Given the description of an element on the screen output the (x, y) to click on. 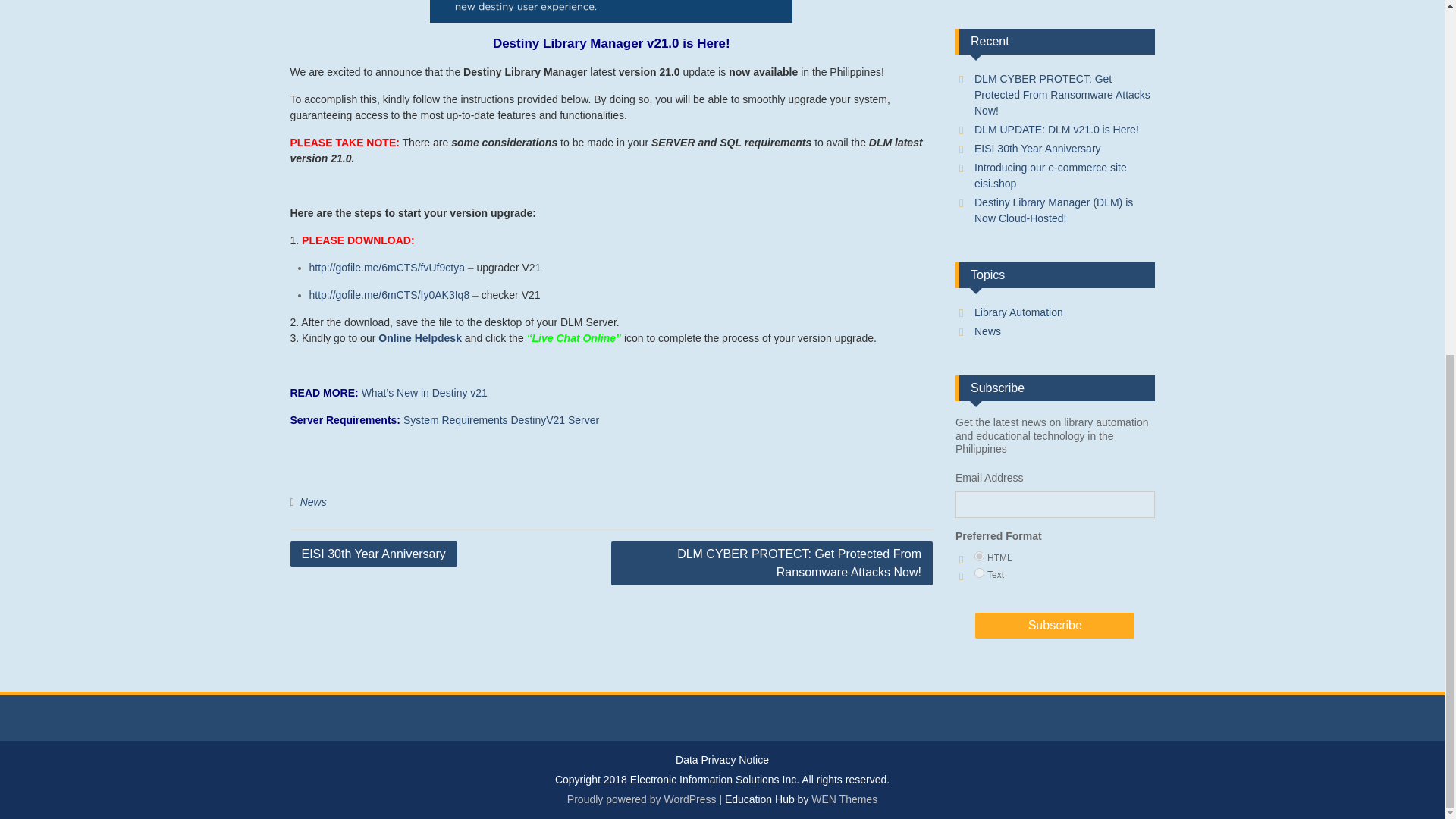
Subscribe (1054, 625)
Library automation systems (1018, 312)
html (979, 556)
System Requirements DestinyV21 Server (500, 419)
Online Helpdesk (419, 337)
text (979, 573)
News (312, 501)
